Given the description of an element on the screen output the (x, y) to click on. 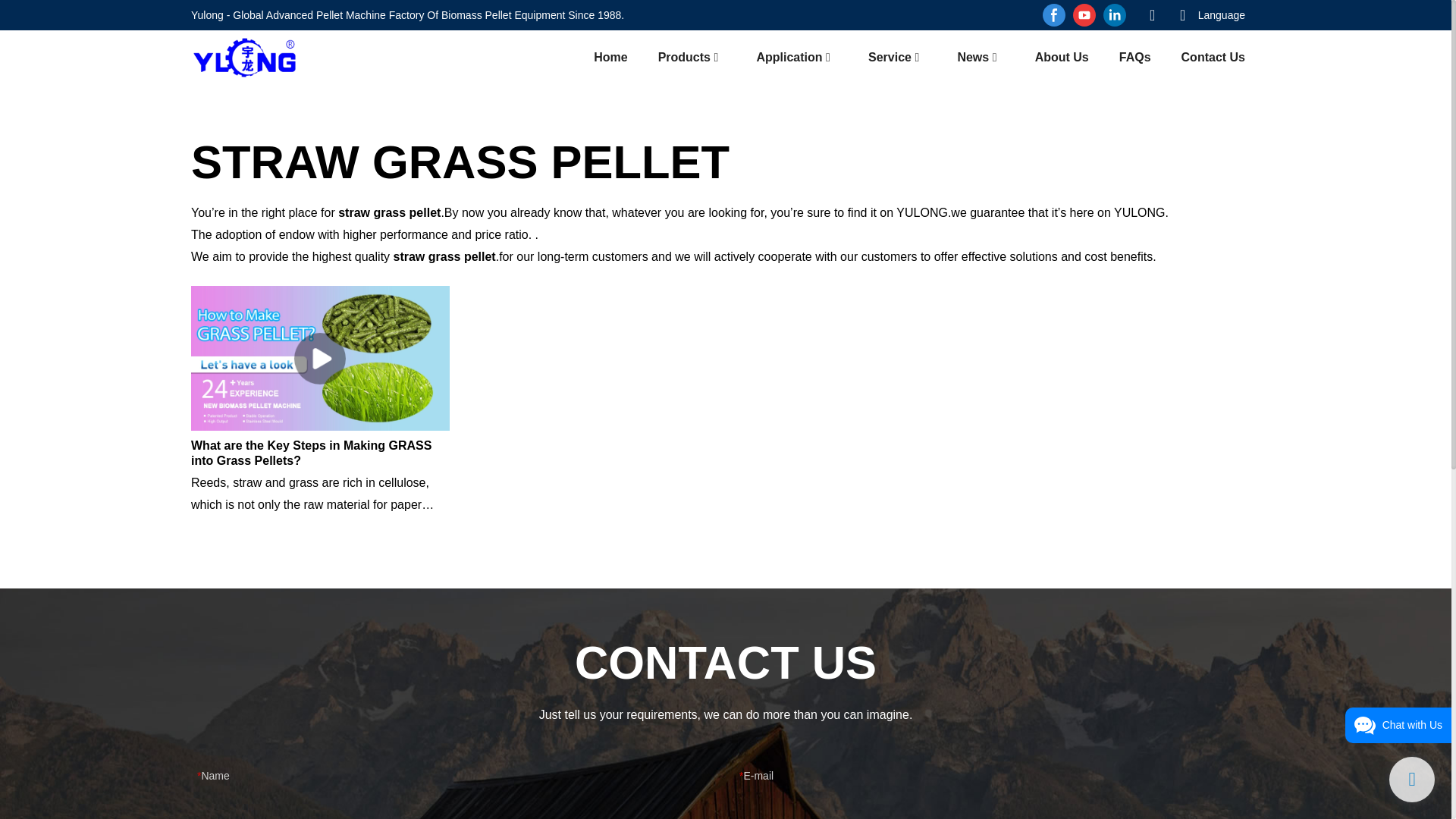
linkedin (1114, 15)
FAQs (1135, 56)
What are the Key Steps in Making GRASS into Grass Pellets? (319, 452)
Application (788, 56)
News (972, 56)
Service (889, 56)
facebook (1053, 15)
About Us (1062, 56)
Home (610, 56)
Contact Us (1212, 56)
youtube (1083, 15)
Products (684, 56)
